Given the description of an element on the screen output the (x, y) to click on. 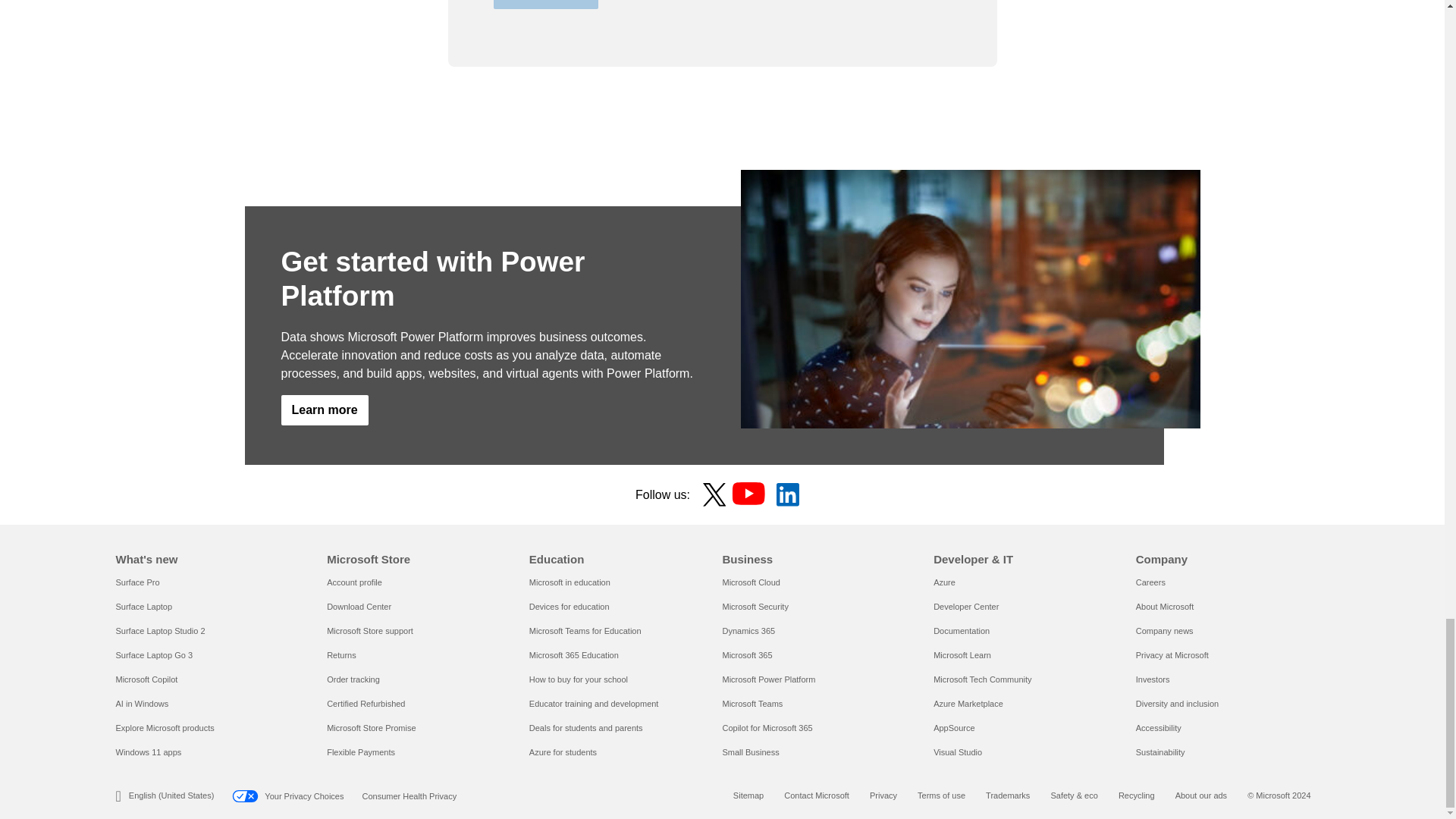
Post comment (544, 4)
